Given the description of an element on the screen output the (x, y) to click on. 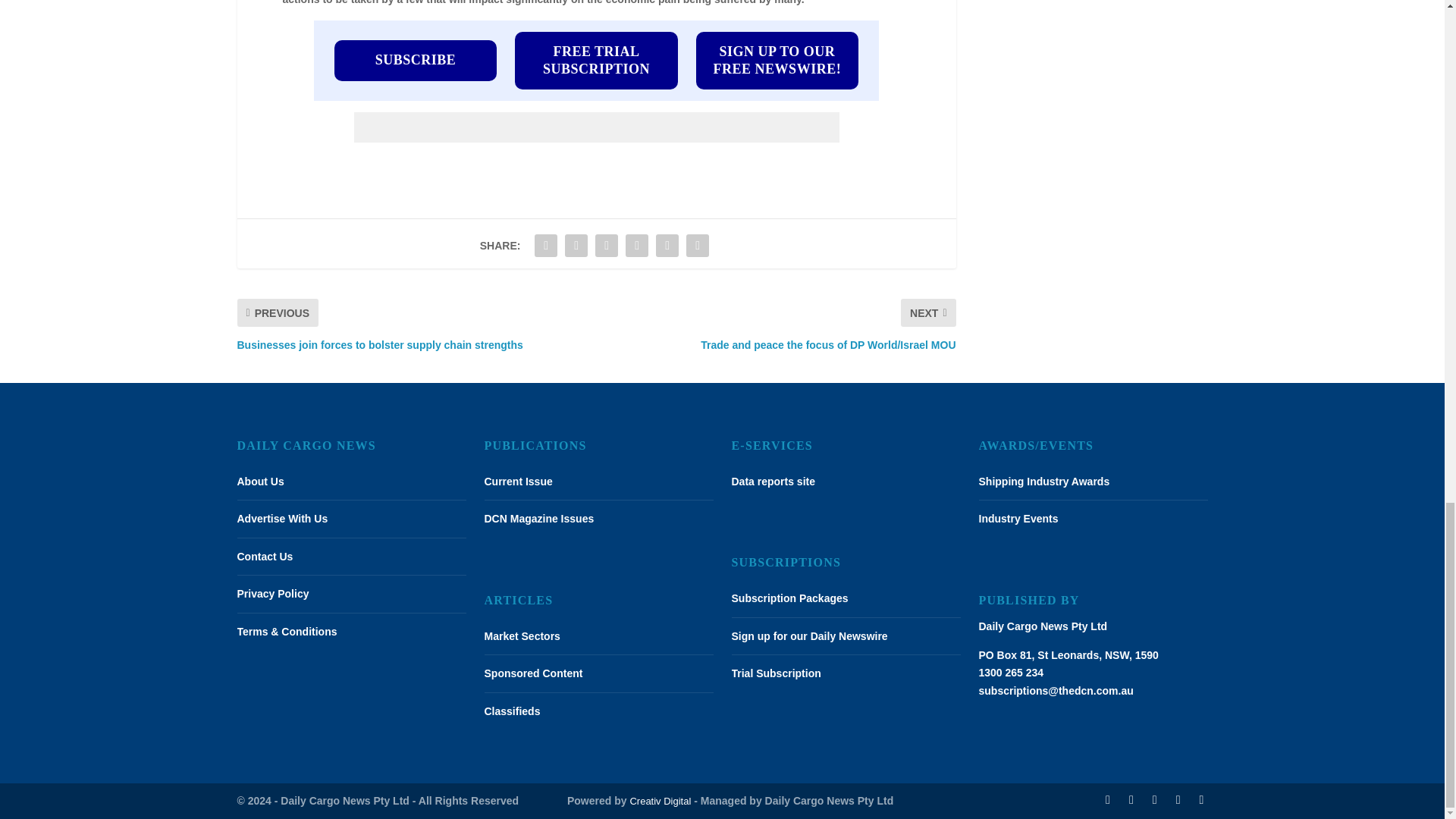
Share "Union willing to negotiate, says Crumlin" via Email (667, 245)
Share "Union willing to negotiate, says Crumlin" via Print (697, 245)
Share "Union willing to negotiate, says Crumlin" via Twitter (575, 245)
